Given the description of an element on the screen output the (x, y) to click on. 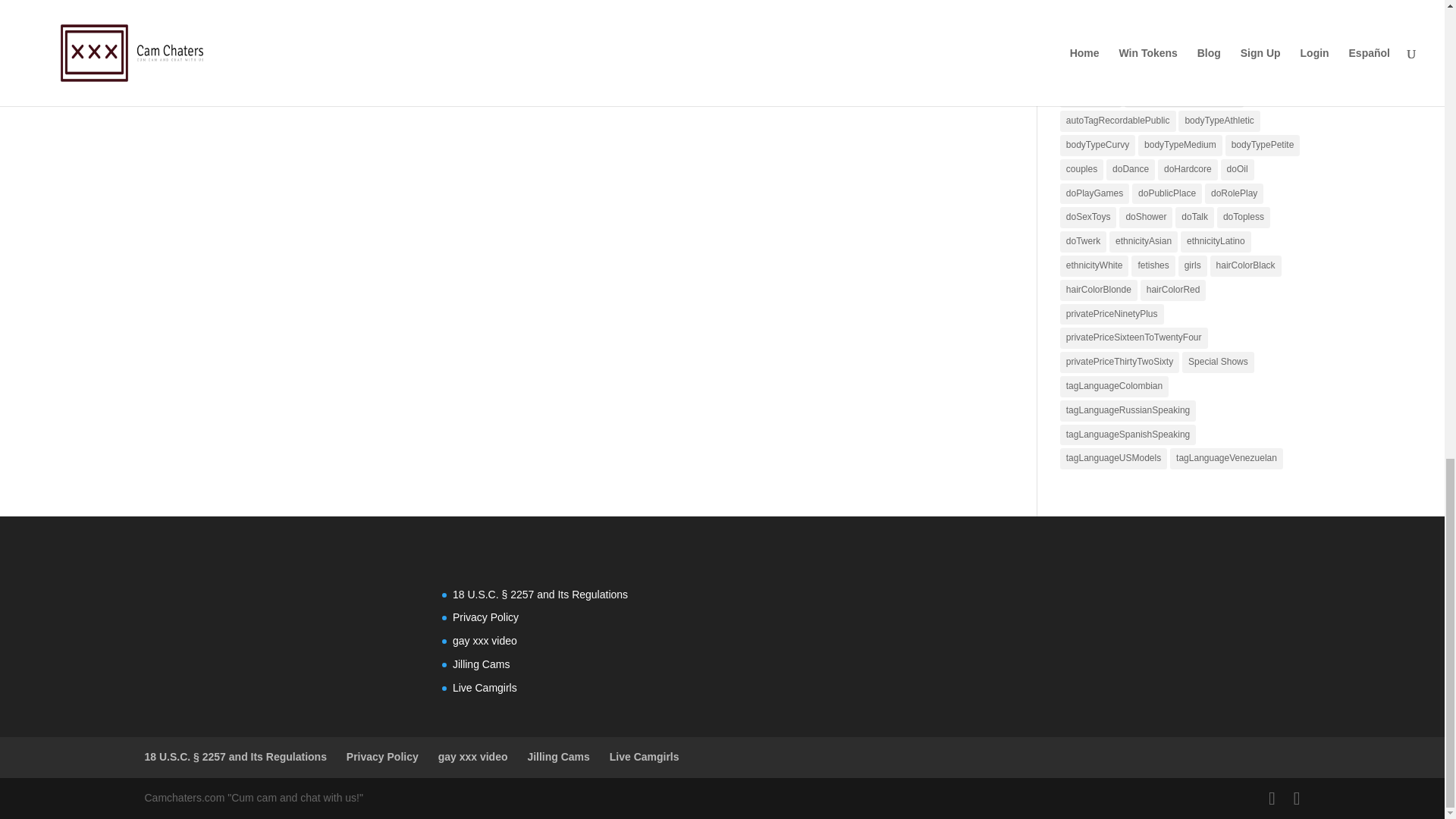
doDance (1130, 169)
ageMilf (1080, 25)
bodyTypeAthletic (1218, 120)
autoTagBestPrivates (1107, 48)
autoTagRecordablePrivate (1183, 96)
doPlayGames (1094, 193)
autoTagP2P (1090, 96)
autoTagNew (1252, 73)
autoTagRecordablePublic (1117, 120)
ageTwenties (1185, 25)
bodyTypeCurvy (1097, 145)
doSexToys (1087, 217)
doPublicPlace (1167, 193)
doShower (1145, 217)
ageTeen (1127, 25)
